Given the description of an element on the screen output the (x, y) to click on. 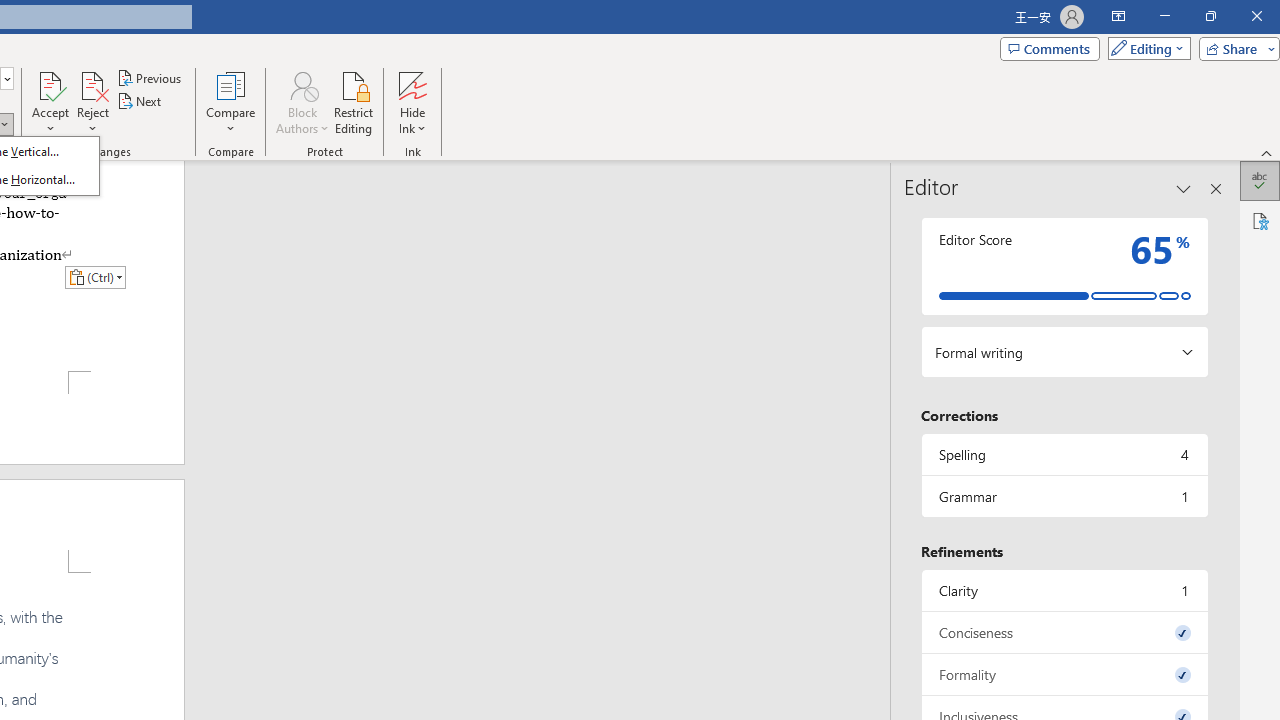
Grammar, 1 issue. Press space or enter to review items. (1064, 495)
Hide Ink (412, 84)
Accessibility (1260, 220)
Conciseness, 0 issues. Press space or enter to review items. (1064, 632)
Spelling, 4 issues. Press space or enter to review items. (1064, 454)
Block Authors (302, 102)
Reject and Move to Next (92, 84)
